Given the description of an element on the screen output the (x, y) to click on. 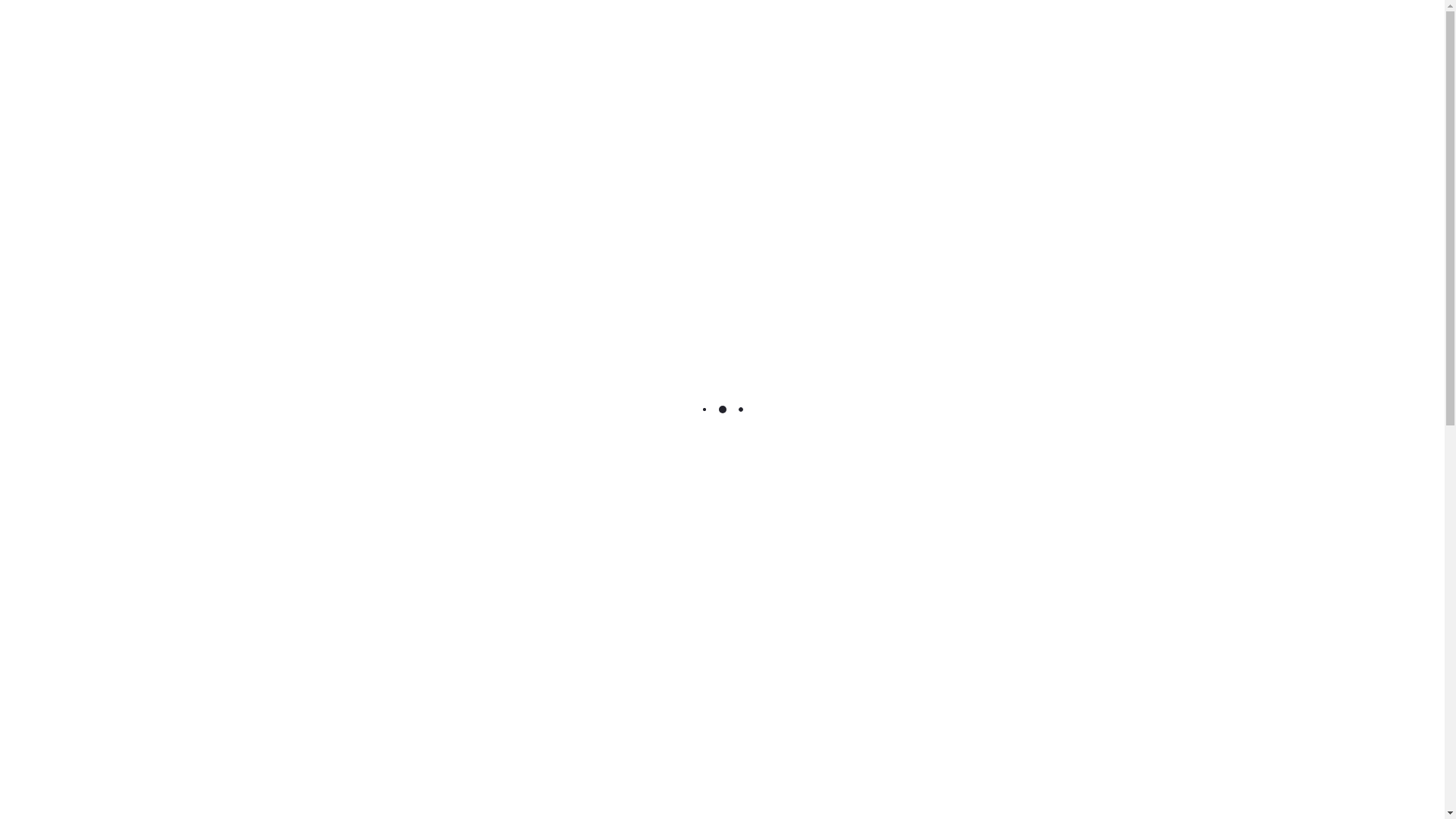
HOME Element type: text (44, 46)
CONTACT Element type: text (338, 46)
0 Element type: text (1387, 45)
PINTEREST Element type: text (1159, 260)
Motoren Element type: text (92, 25)
*MV AGUSTA BRUTALE GLADIO* Element type: text (1375, 26)
MV AGUSTA BRUTALE LEWIS HAMILTON Element type: text (1398, 26)
TWITTER Element type: text (1077, 260)
Motoren Element type: text (147, 25)
FACEBOOK Element type: text (995, 260)
Home Element type: text (44, 25)
Tweedehands Element type: text (216, 25)
Account Element type: text (1353, 45)
Beschrijving Element type: text (722, 662)
Search Element type: text (1319, 45)
TWEEDEHANDS Element type: text (1101, 191)
SHOP Element type: text (185, 46)
MOTOREN Element type: text (115, 46)
OVER ONS Element type: text (256, 46)
